Given the description of an element on the screen output the (x, y) to click on. 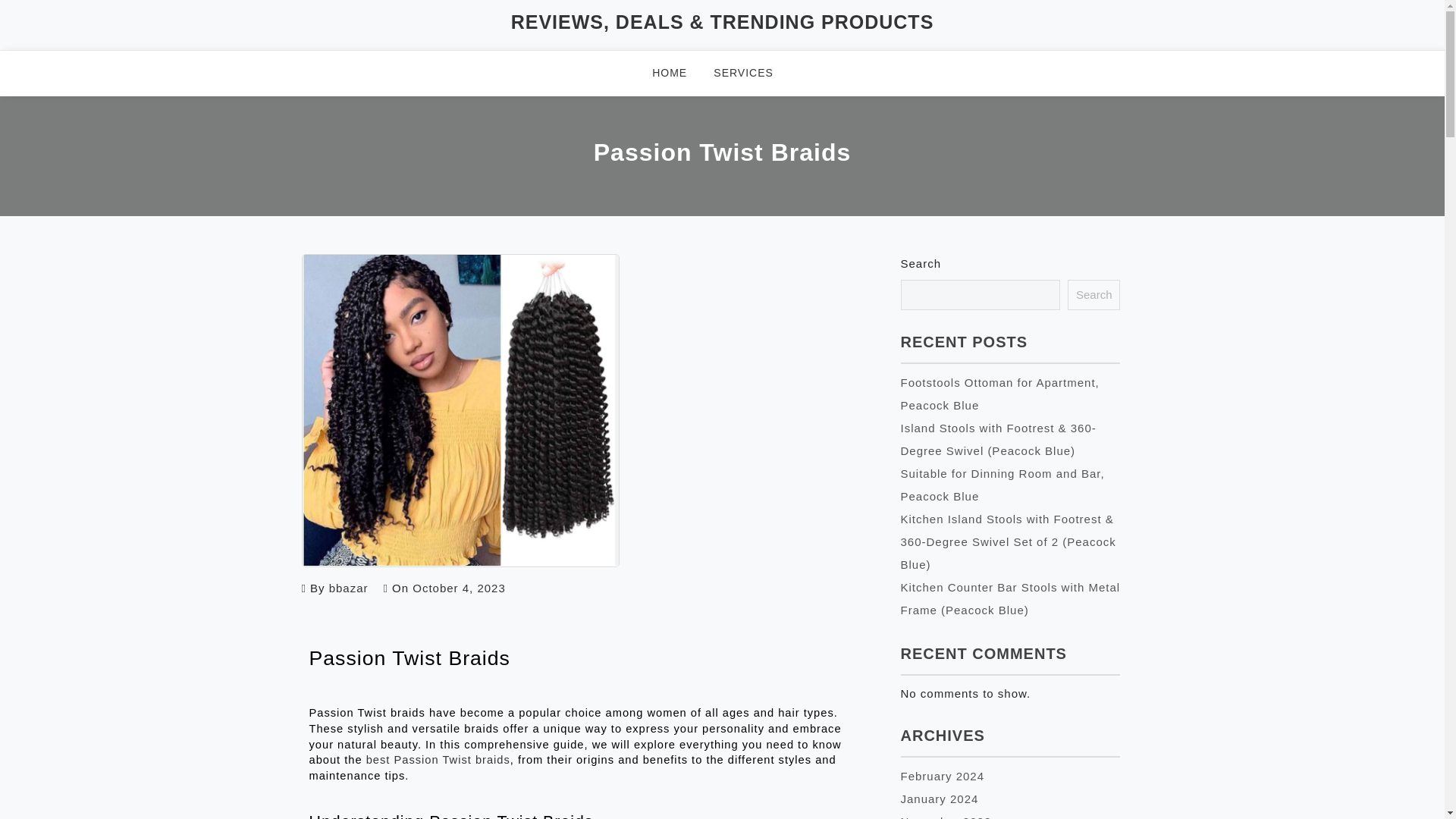
February 2024 (943, 775)
SERVICES (752, 73)
best Passion Twist braids (438, 759)
January 2024 (939, 798)
Search (1094, 295)
October 4, 2023 (458, 587)
Suitable for Dinning Room and Bar, Peacock Blue (1003, 484)
bbazar (348, 587)
HOME (679, 73)
November 2023 (946, 816)
